Given the description of an element on the screen output the (x, y) to click on. 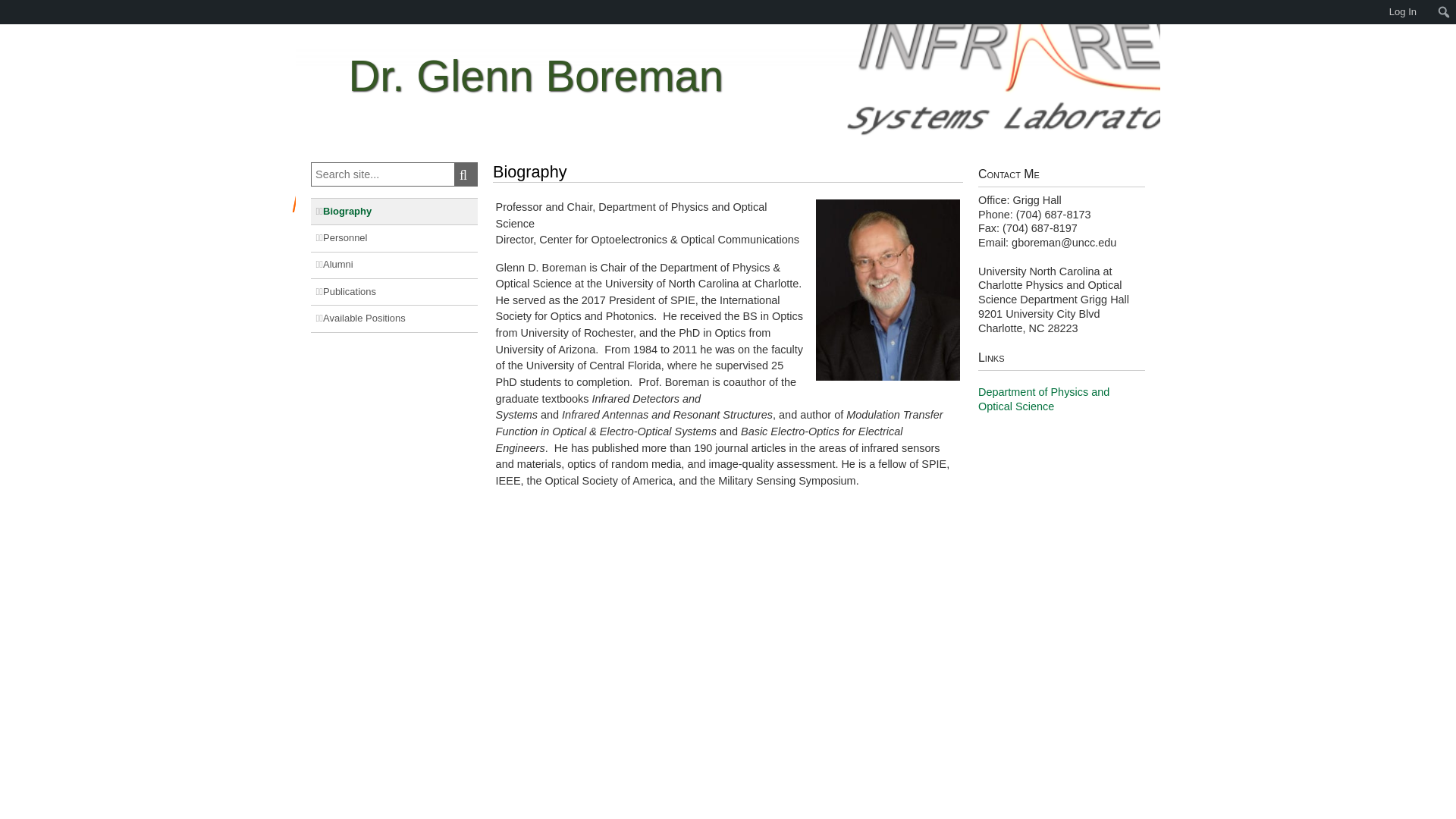
Biography (394, 211)
Department of Physics and Optical Science (1043, 398)
Search (465, 173)
Alumni (394, 264)
Available Positions (394, 317)
Log In (1403, 12)
Personnel (394, 237)
Publications (394, 291)
Dr. Glenn Boreman (726, 75)
Search (16, 13)
